Given the description of an element on the screen output the (x, y) to click on. 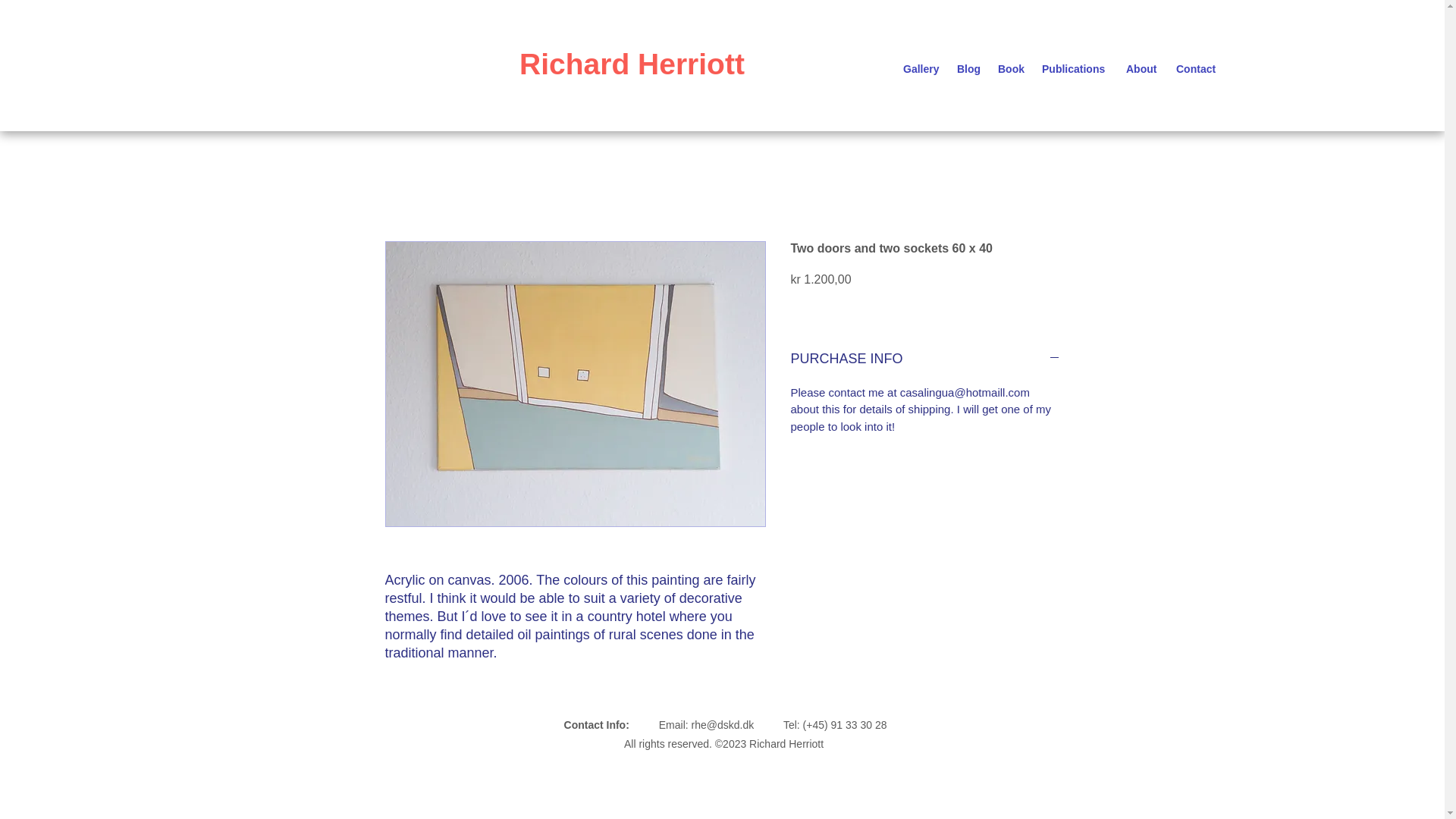
Blog (969, 68)
Gallery (922, 68)
Contact (1198, 68)
Publications (1075, 68)
Richard Herriott (631, 63)
PURCHASE INFO (924, 359)
About (1143, 68)
Book (1011, 68)
